Given the description of an element on the screen output the (x, y) to click on. 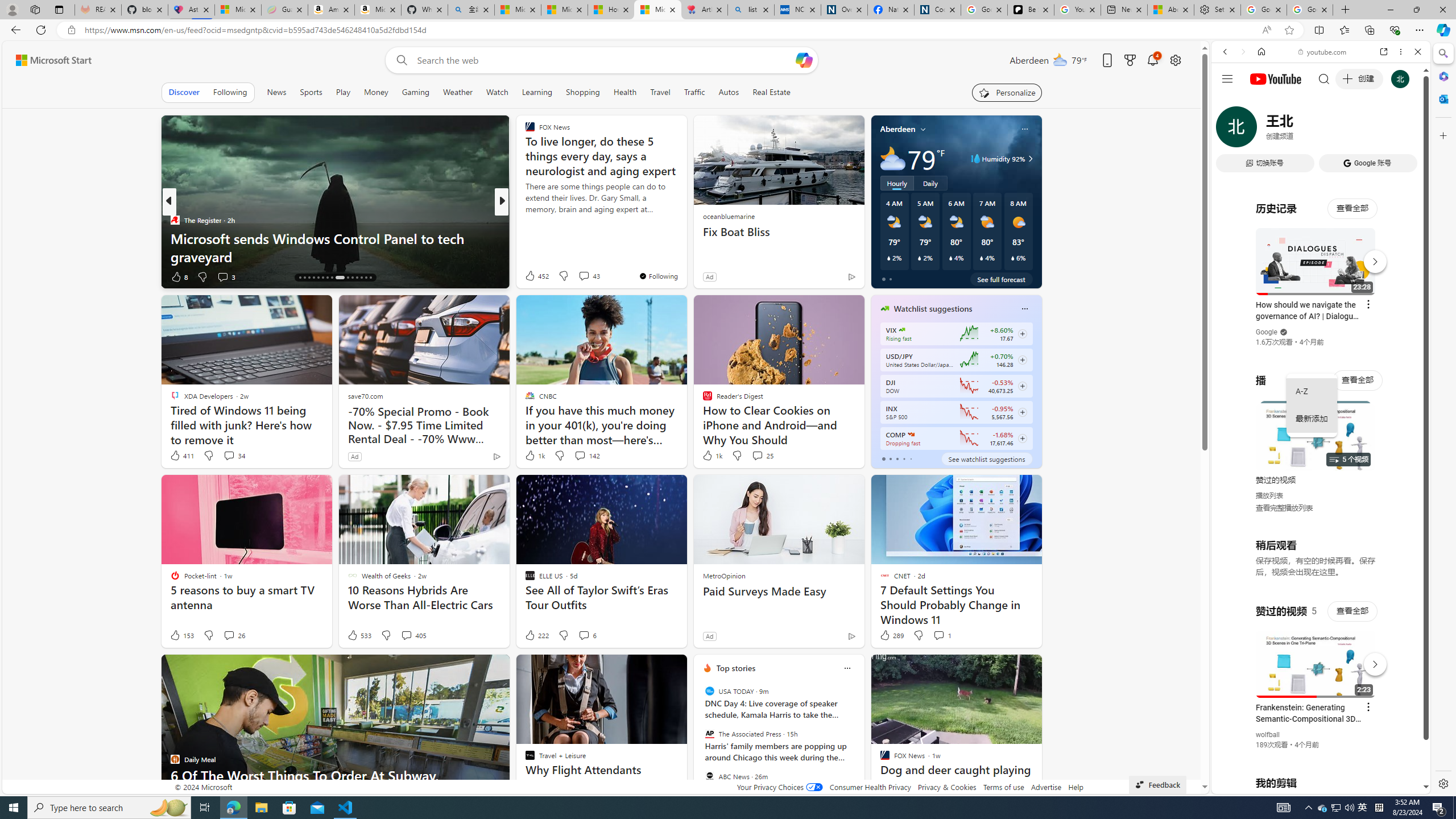
Arthritis: Ask Health Professionals (703, 9)
2k Like (530, 276)
Daily (929, 183)
ABC News (709, 775)
tab-3 (903, 458)
A-Z (1311, 391)
